Given the description of an element on the screen output the (x, y) to click on. 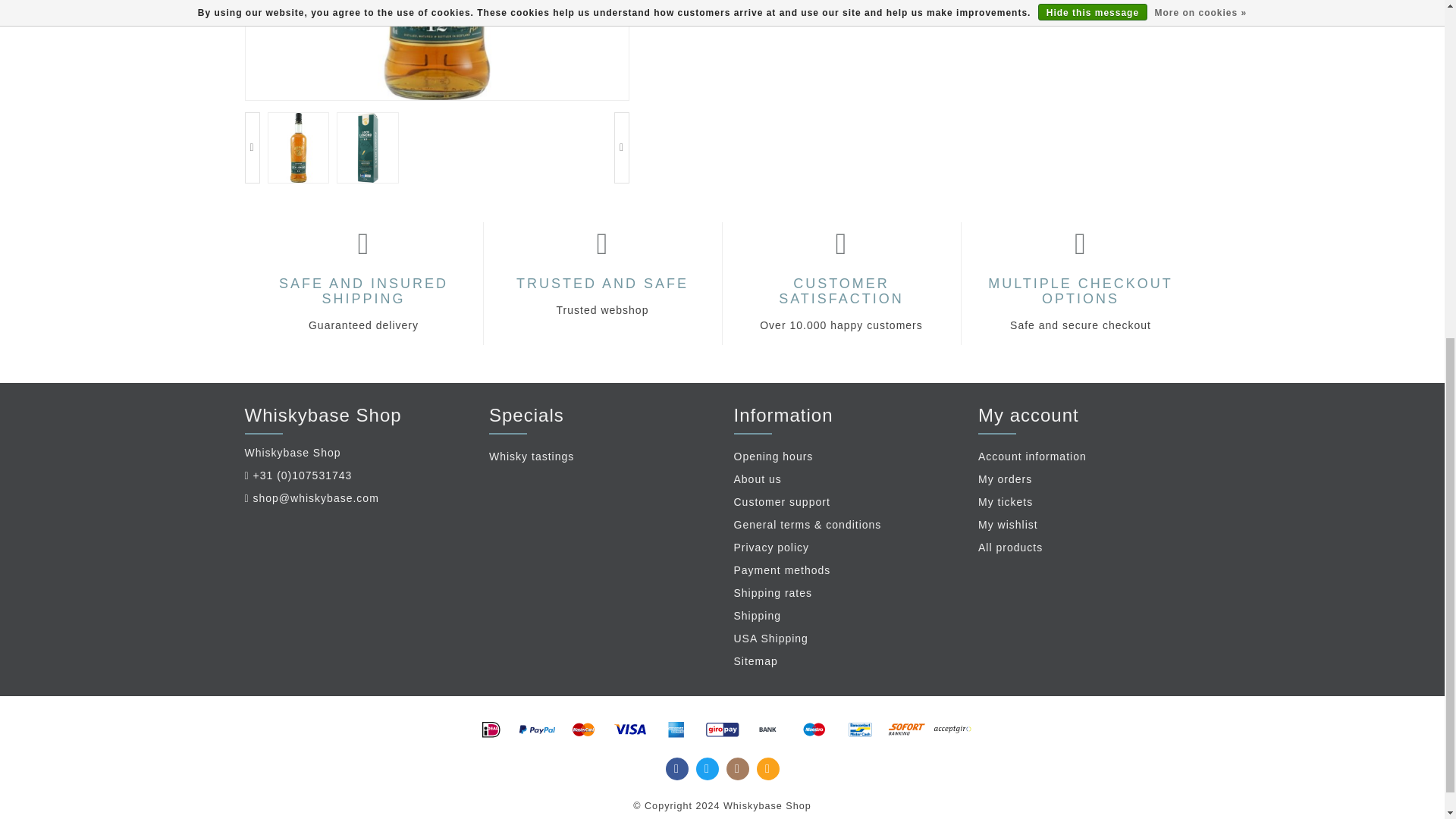
Customer support (844, 502)
Whisky tastings (600, 456)
Opening hours (844, 456)
Shipping rates (844, 593)
USA Shipping (844, 639)
Sitemap (844, 661)
Account information (1088, 456)
Shipping (844, 616)
My orders (1088, 479)
Privacy policy (844, 548)
